Given the description of an element on the screen output the (x, y) to click on. 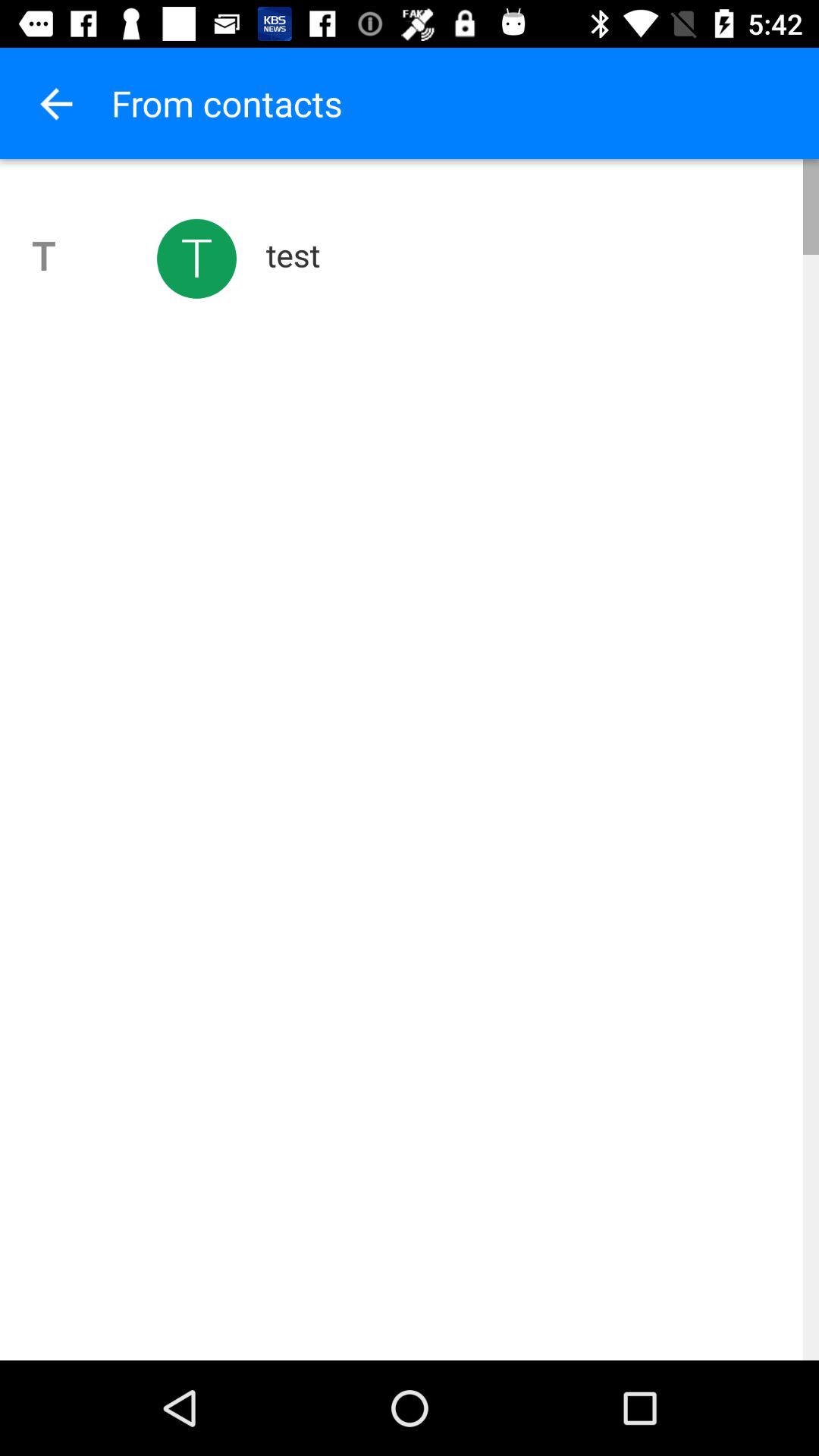
tap the app above the t app (55, 103)
